Given the description of an element on the screen output the (x, y) to click on. 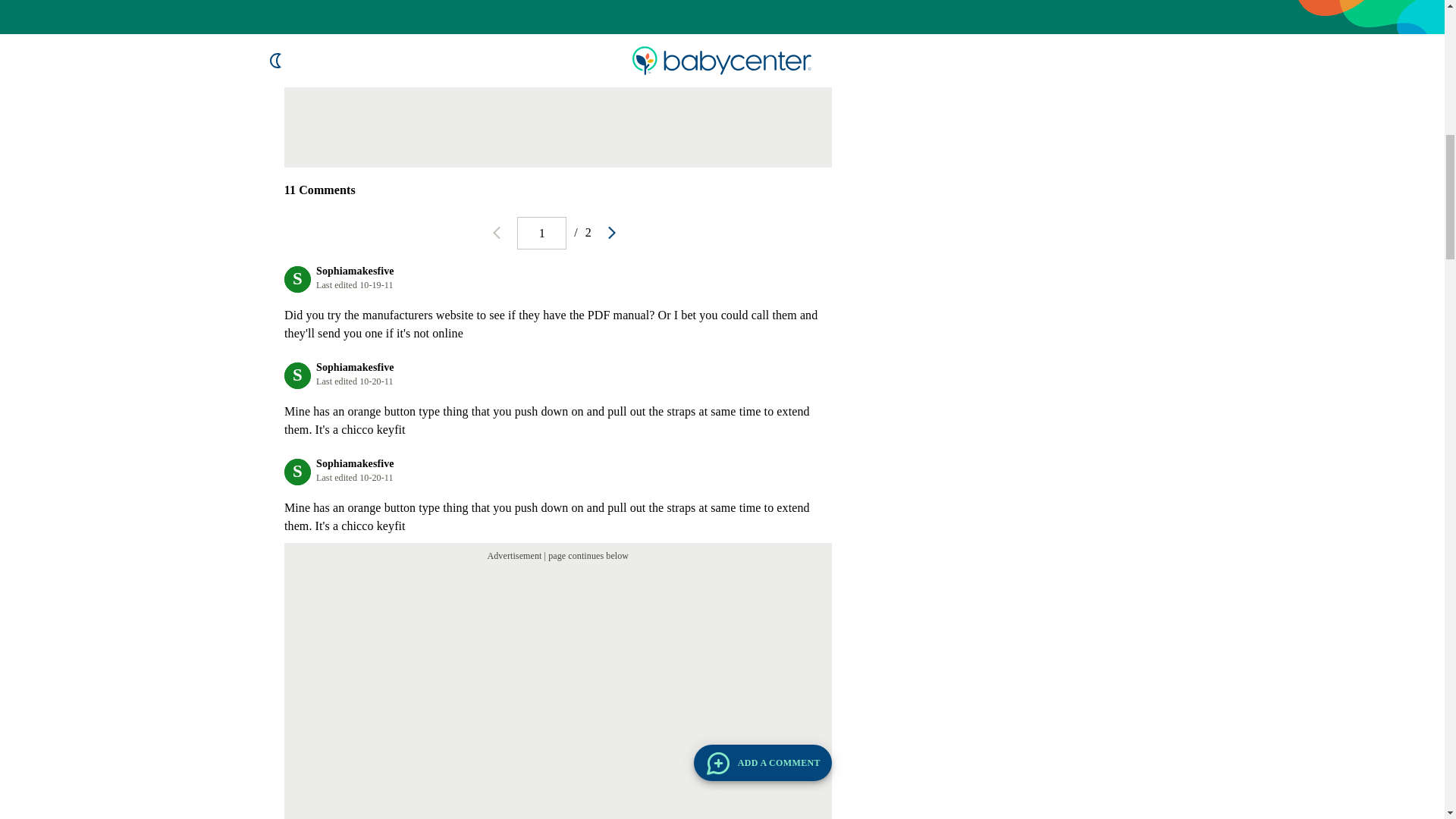
Go to page number (541, 233)
1 (541, 233)
